Given the description of an element on the screen output the (x, y) to click on. 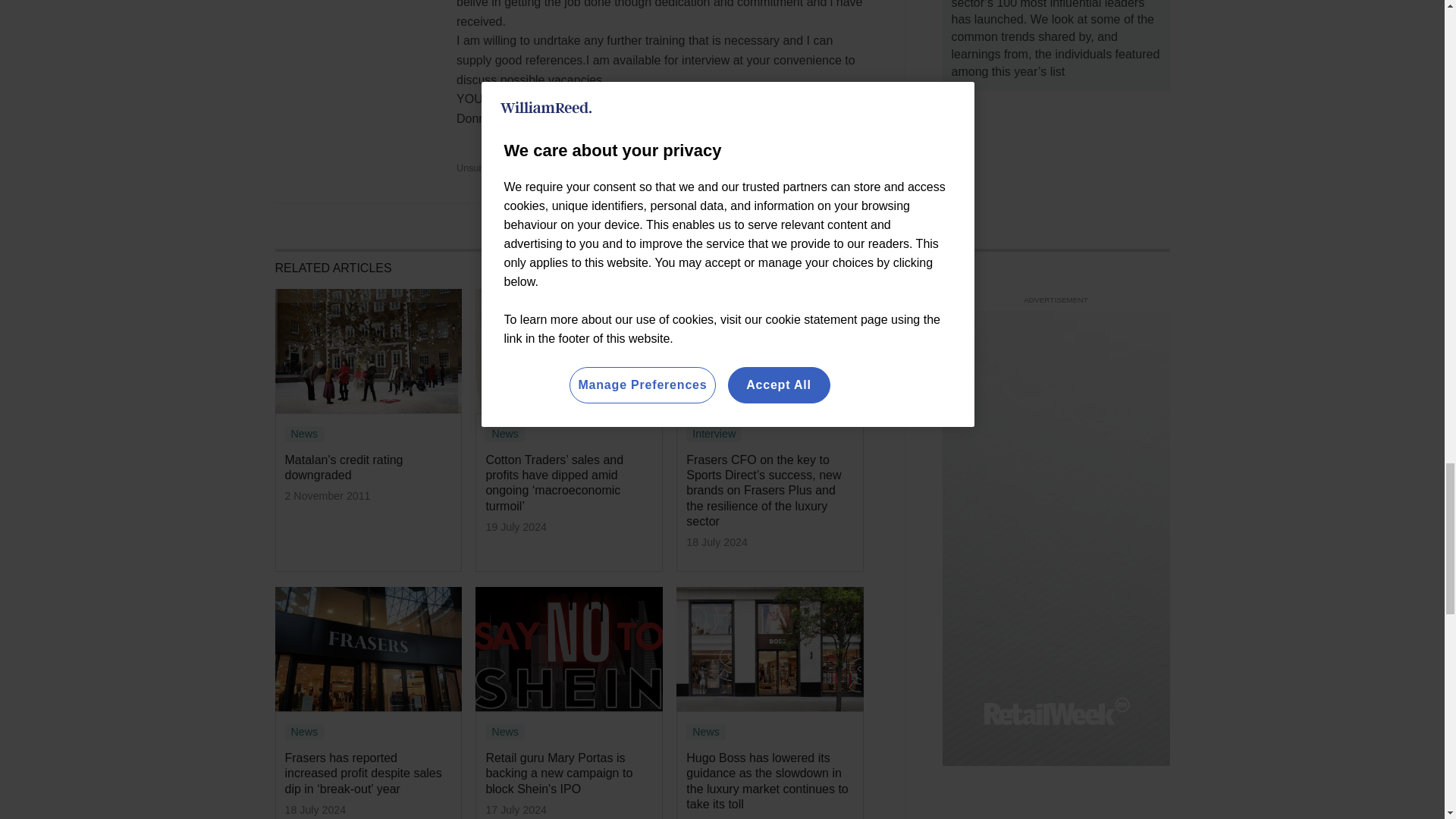
3rd party ad content (1055, 406)
